Given the description of an element on the screen output the (x, y) to click on. 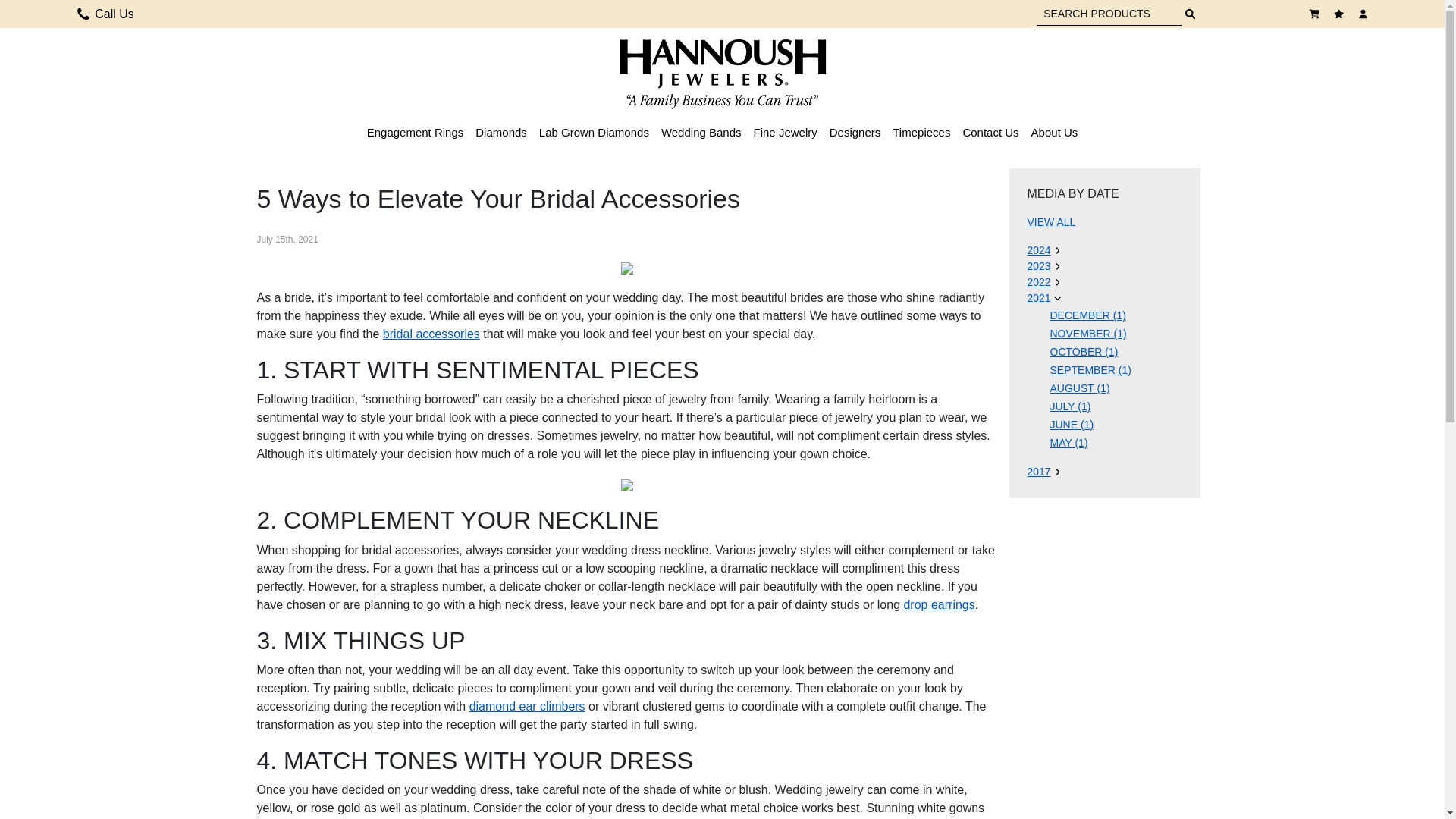
Call Us (104, 13)
Shopping Cart (1315, 13)
Lab Grown Diamonds (593, 131)
Diamonds (501, 131)
Engagement Rings (415, 131)
Engagement Rings (415, 131)
My Account (1364, 13)
Call Us (82, 14)
Wishlist (1340, 13)
Hannoush Jewelers Logo (721, 73)
